Given the description of an element on the screen output the (x, y) to click on. 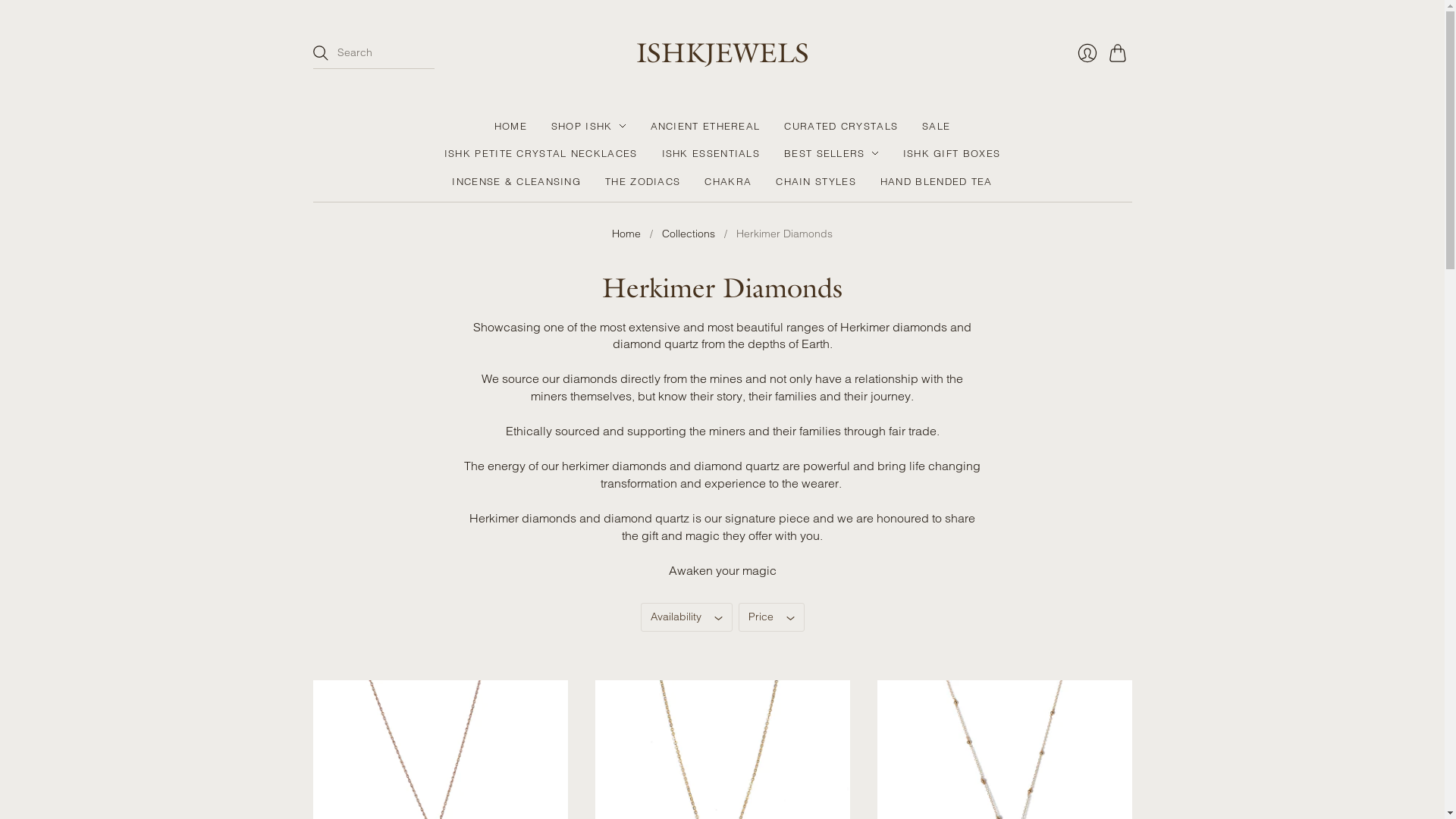
CHAKRA Element type: text (727, 180)
ANCIENT ETHEREAL Element type: text (705, 125)
THE ZODIACS Element type: text (642, 180)
CHAIN STYLES Element type: text (815, 180)
Login Element type: text (1086, 52)
SALE Element type: text (936, 125)
Cart Element type: text (1119, 52)
ISHK PETITE CRYSTAL NECKLACES Element type: text (540, 152)
Home Element type: text (625, 233)
HOME Element type: text (510, 125)
ISHK ESSENTIALS Element type: text (711, 152)
INCENSE & CLEANSING Element type: text (515, 180)
ISHK GIFT BOXES Element type: text (952, 152)
HAND BLENDED TEA Element type: text (936, 180)
CURATED CRYSTALS Element type: text (840, 125)
Collections Element type: text (688, 233)
ISHKJEWELS Element type: text (721, 52)
